Given the description of an element on the screen output the (x, y) to click on. 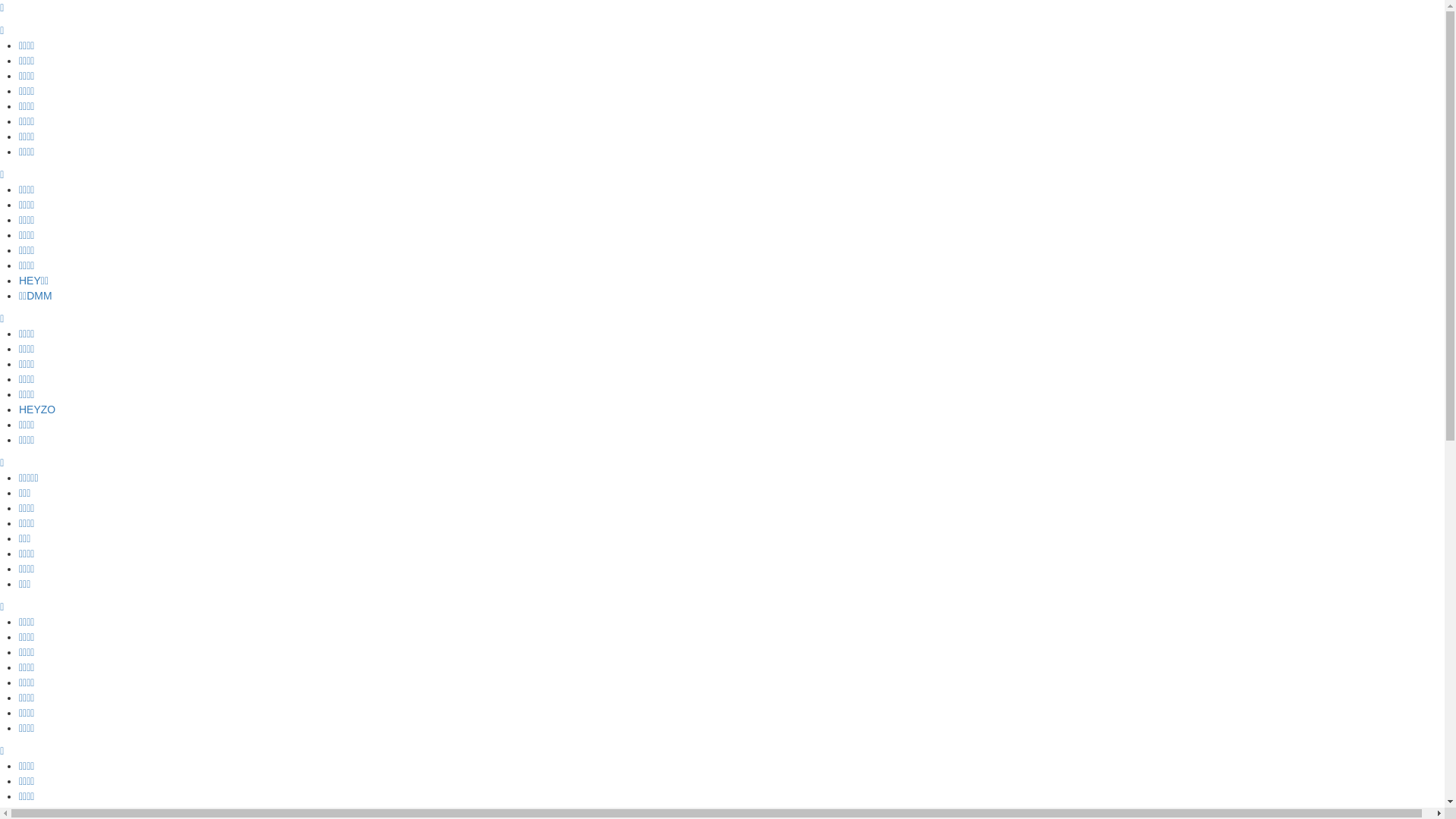
HEYZO Element type: text (36, 409)
